Given the description of an element on the screen output the (x, y) to click on. 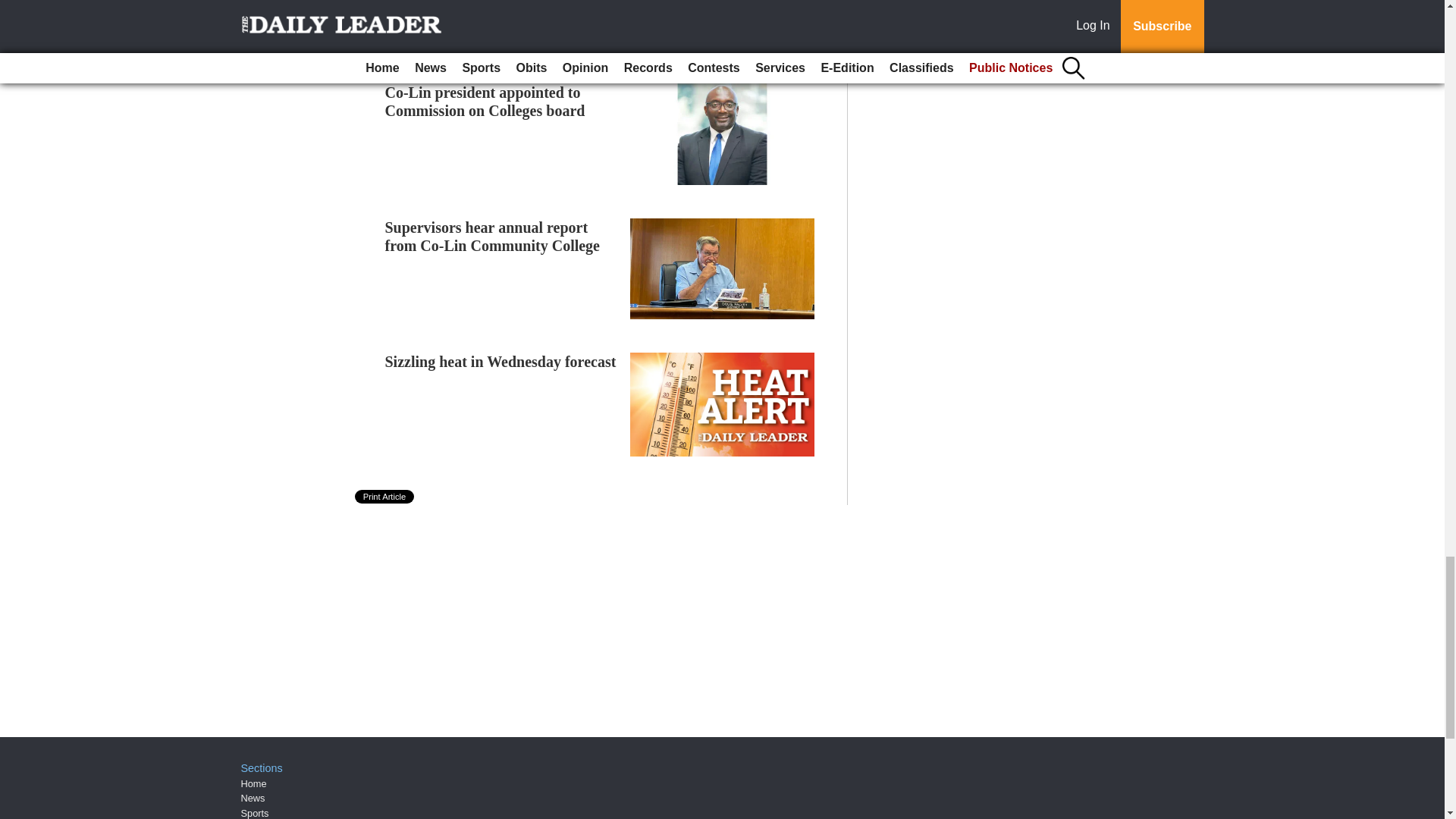
Sizzling heat in Wednesday forecast (500, 361)
Print Article (384, 496)
Supervisors hear annual report from Co-Lin Community College (492, 236)
Co-Lin president appointed to Commission on Colleges board (485, 101)
Supervisors hear annual report from Co-Lin Community College (492, 236)
Co-Lin president appointed to Commission on Colleges board (485, 101)
Sizzling heat in Wednesday forecast (500, 361)
